Given the description of an element on the screen output the (x, y) to click on. 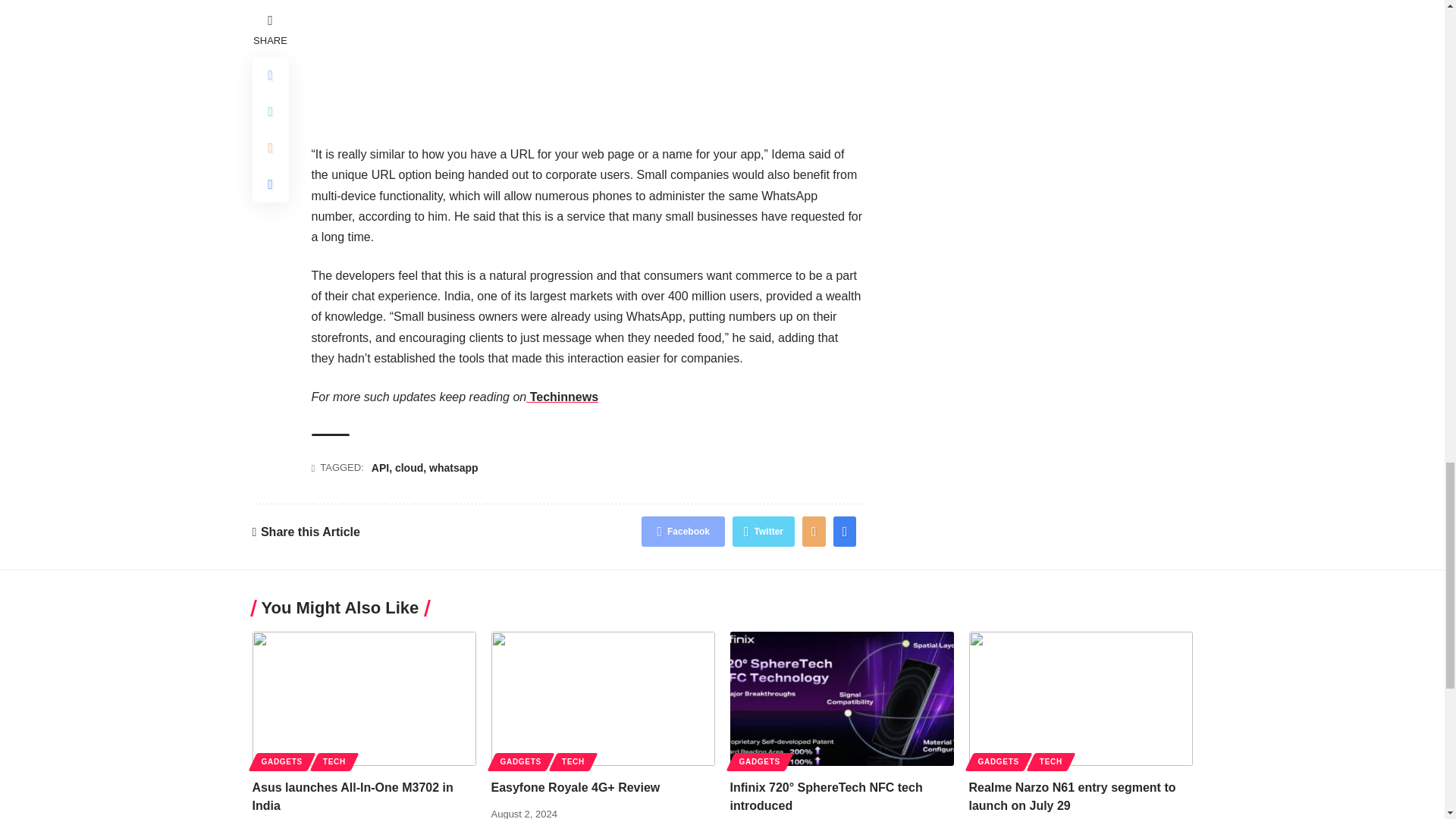
Realme Narzo N61 entry segment to launch on July 29 (1080, 698)
whatsapp (454, 467)
cloud (408, 467)
Facebook (683, 531)
 Techinnews (561, 396)
Twitter (763, 531)
Asus launches  All-In-One M3702 in India (363, 698)
API (379, 467)
